Given the description of an element on the screen output the (x, y) to click on. 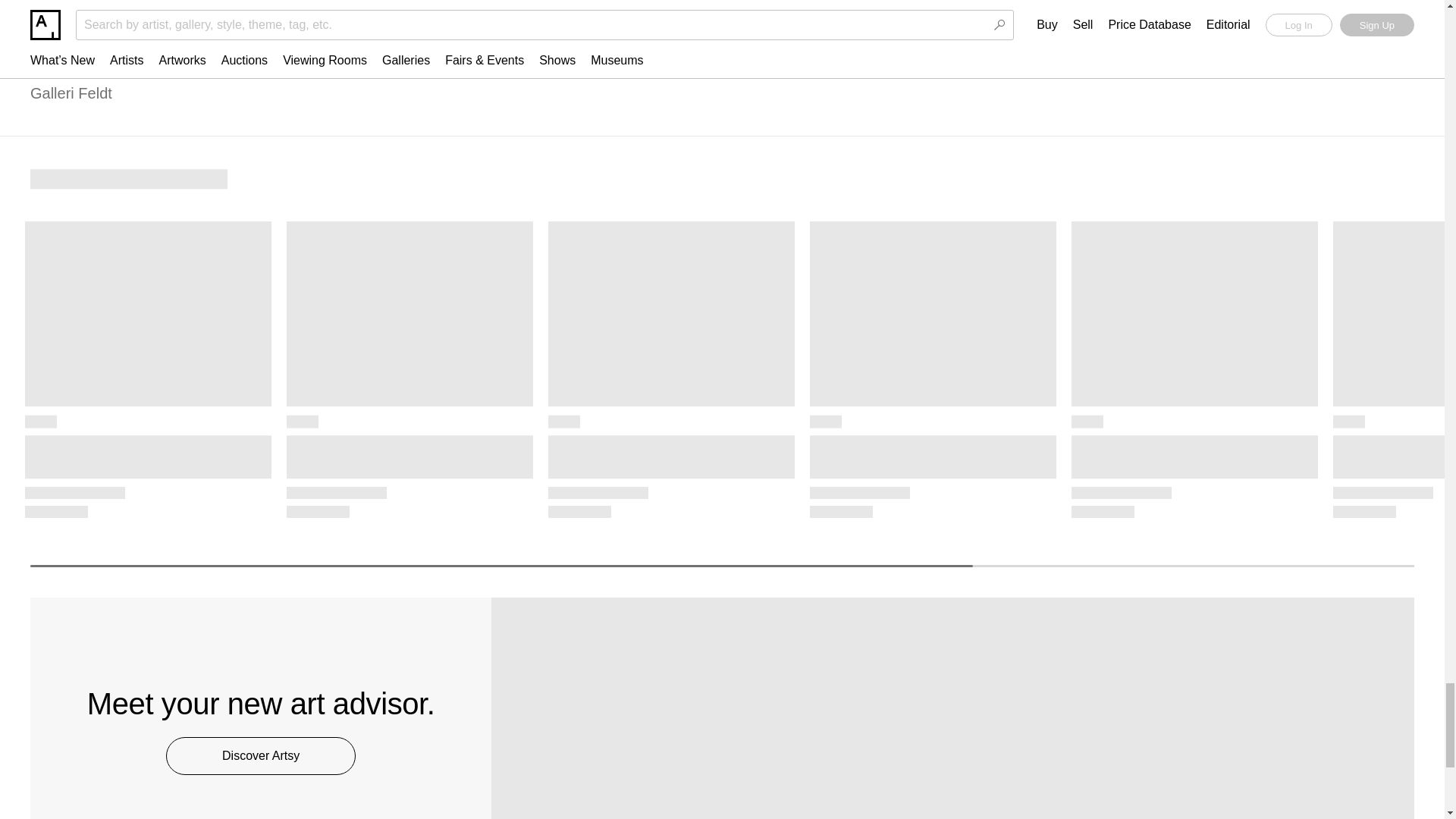
Discover Artsy (260, 755)
